Given the description of an element on the screen output the (x, y) to click on. 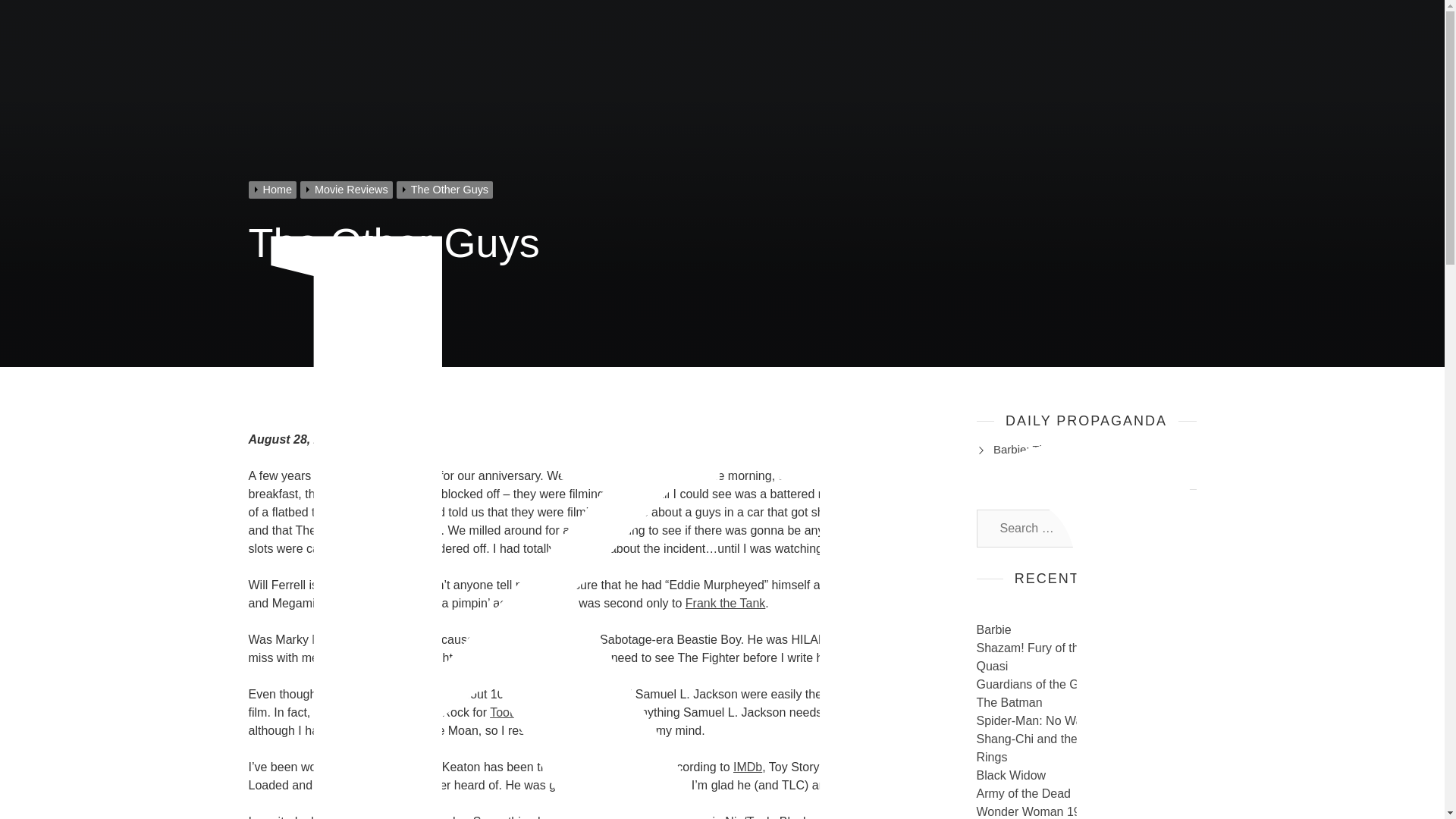
Tooth Fairy (518, 712)
IMDb (747, 766)
The Other Guys (446, 189)
Black Widow (1011, 775)
Quasi (992, 666)
Shazam! Fury of the Gods (1047, 647)
The Flamingo (657, 475)
Army of the Dead (1023, 793)
Guardians of the Galaxy Vol. 3 (1058, 684)
The Batman (1009, 702)
Search (1168, 528)
Shang-Chi and the Legend of the Ten Rings (1076, 747)
Barbie: The Movie (1038, 449)
Wonder Woman 1984 (1035, 811)
Spider-Man: No Way Home (1050, 720)
